Given the description of an element on the screen output the (x, y) to click on. 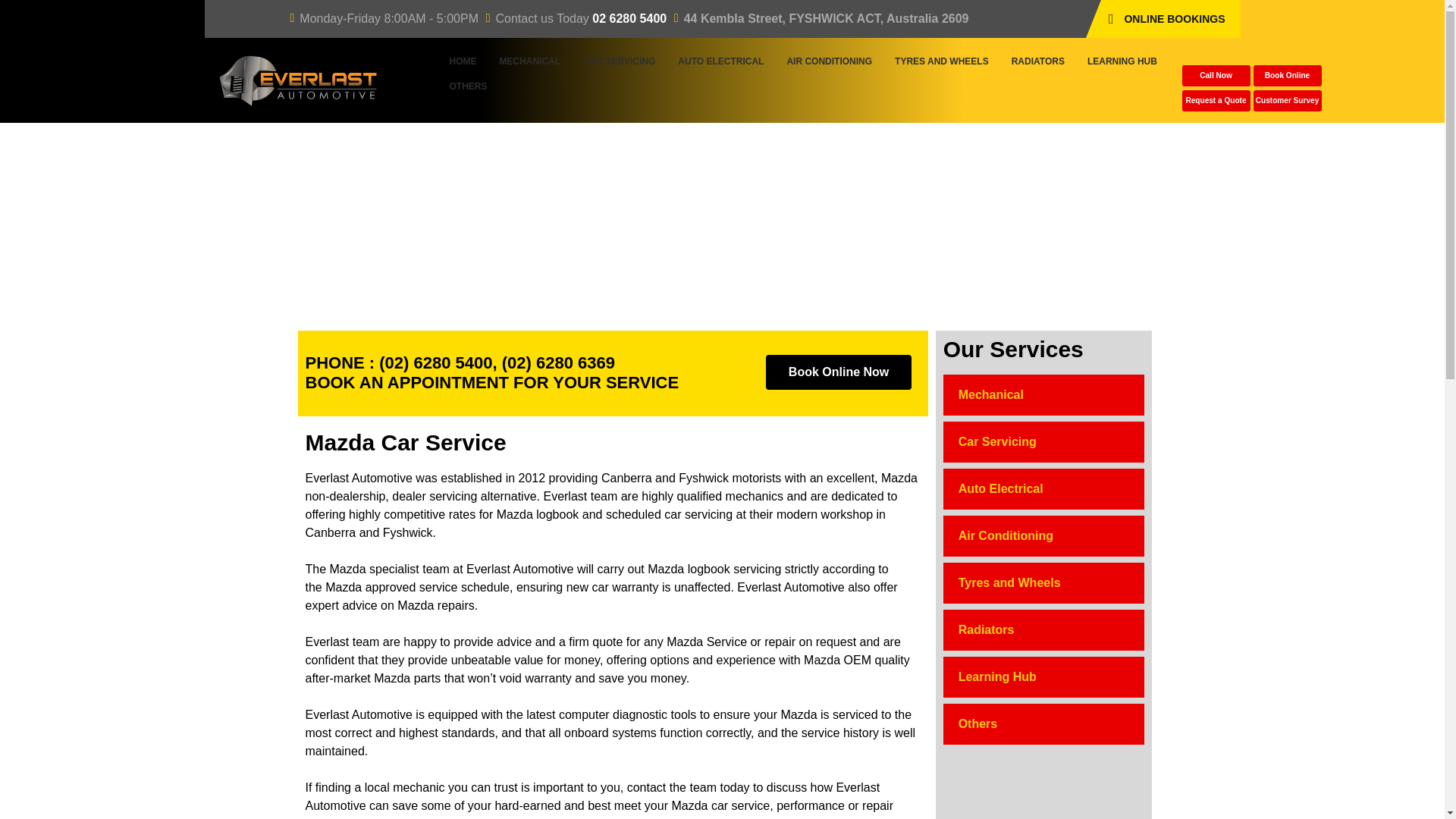
HOME (462, 61)
AIR CONDITIONING (828, 61)
AUTO ELECTRICAL (720, 61)
CAR SERVICING (619, 61)
MECHANICAL (529, 61)
02 6280 5400 (629, 18)
ONLINE BOOKINGS (1170, 18)
TYRES AND WHEELS (941, 61)
